Given the description of an element on the screen output the (x, y) to click on. 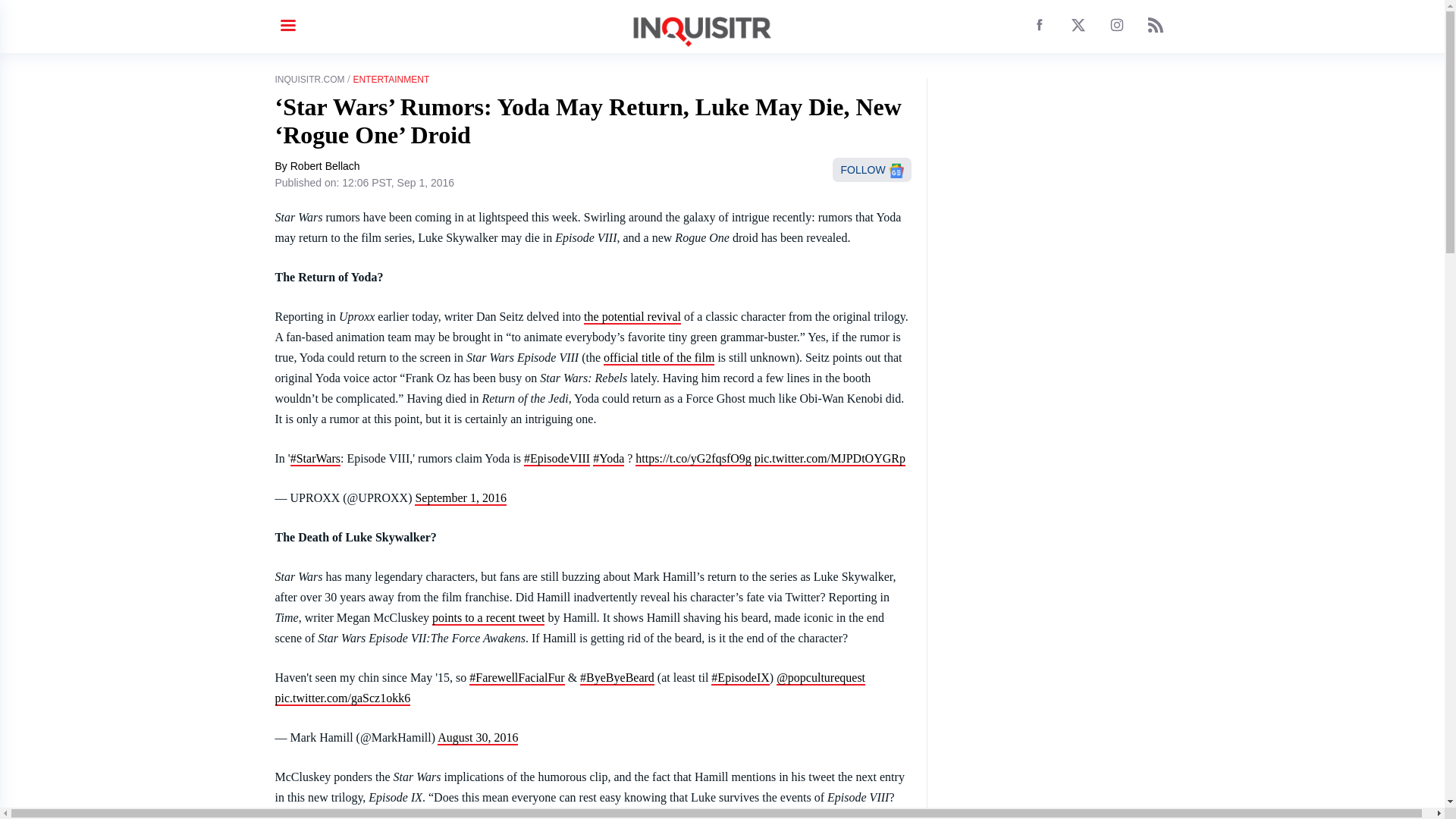
ENTERTAINMENT (390, 79)
INQUISITR.COM (309, 79)
